Given the description of an element on the screen output the (x, y) to click on. 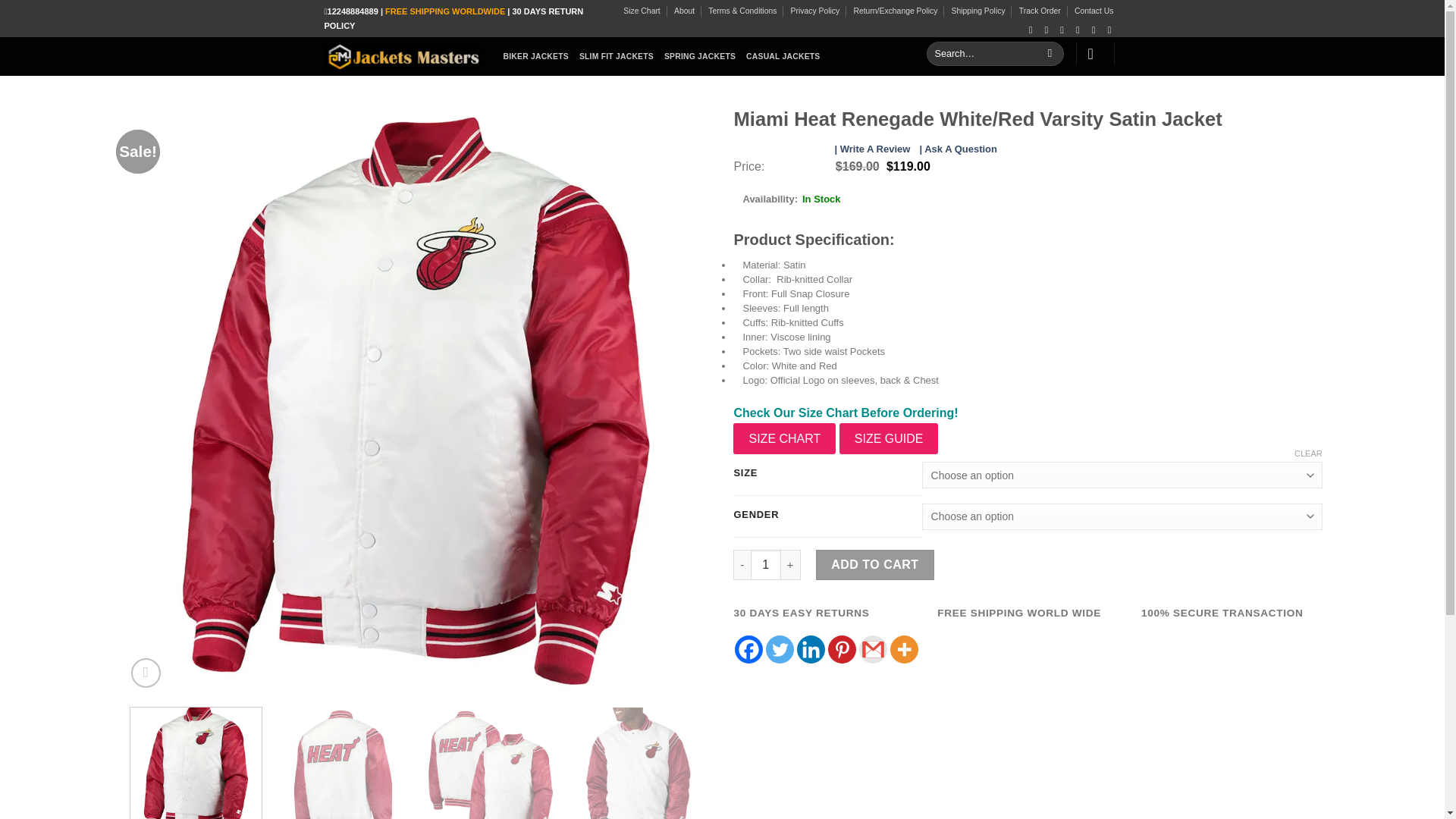
1 (765, 564)
Jackets Masters (402, 56)
BIKER JACKETS (536, 56)
SPRING JACKETS (699, 56)
Search (1050, 53)
SLIM FIT JACKETS (616, 56)
Contact Us (1093, 11)
Size Chart (642, 11)
12248884889 (352, 10)
